Given the description of an element on the screen output the (x, y) to click on. 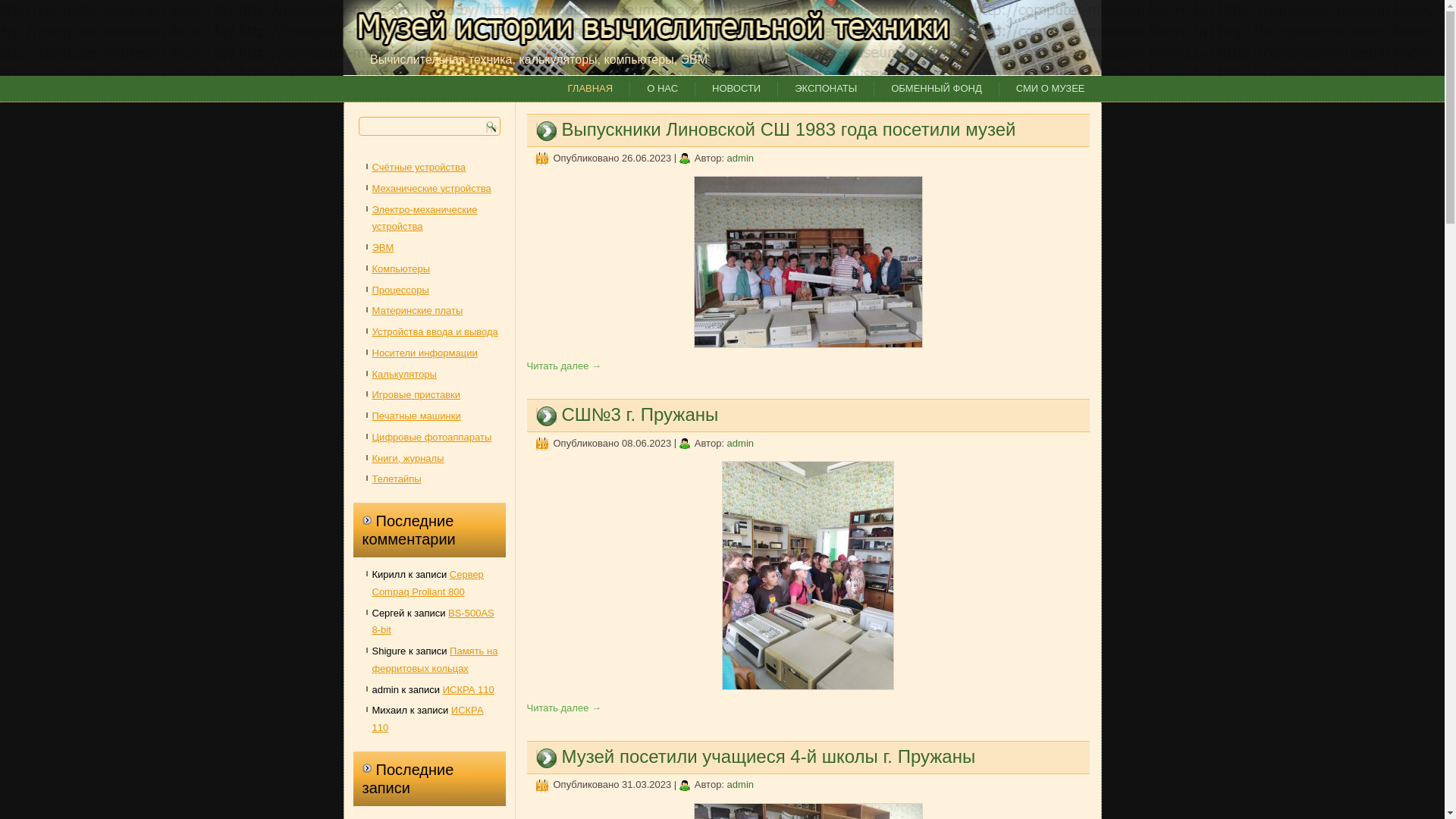
admin Element type: text (740, 784)
admin Element type: text (740, 442)
admin Element type: text (740, 157)
BS-500AS 8-bit Element type: text (432, 620)
